Given the description of an element on the screen output the (x, y) to click on. 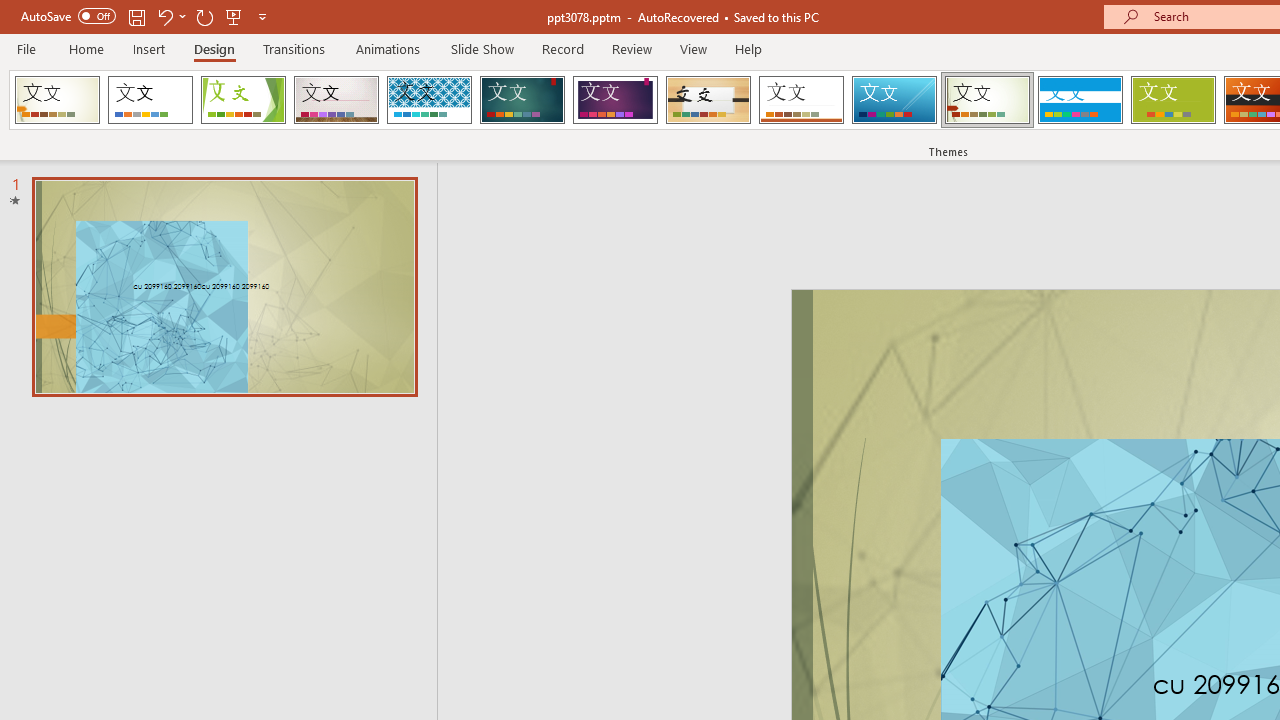
Basis Loading Preview... (1172, 100)
Integral Loading Preview... (429, 100)
Ion Boardroom Loading Preview... (615, 100)
Gallery (336, 100)
Retrospect Loading Preview... (801, 100)
